Given the description of an element on the screen output the (x, y) to click on. 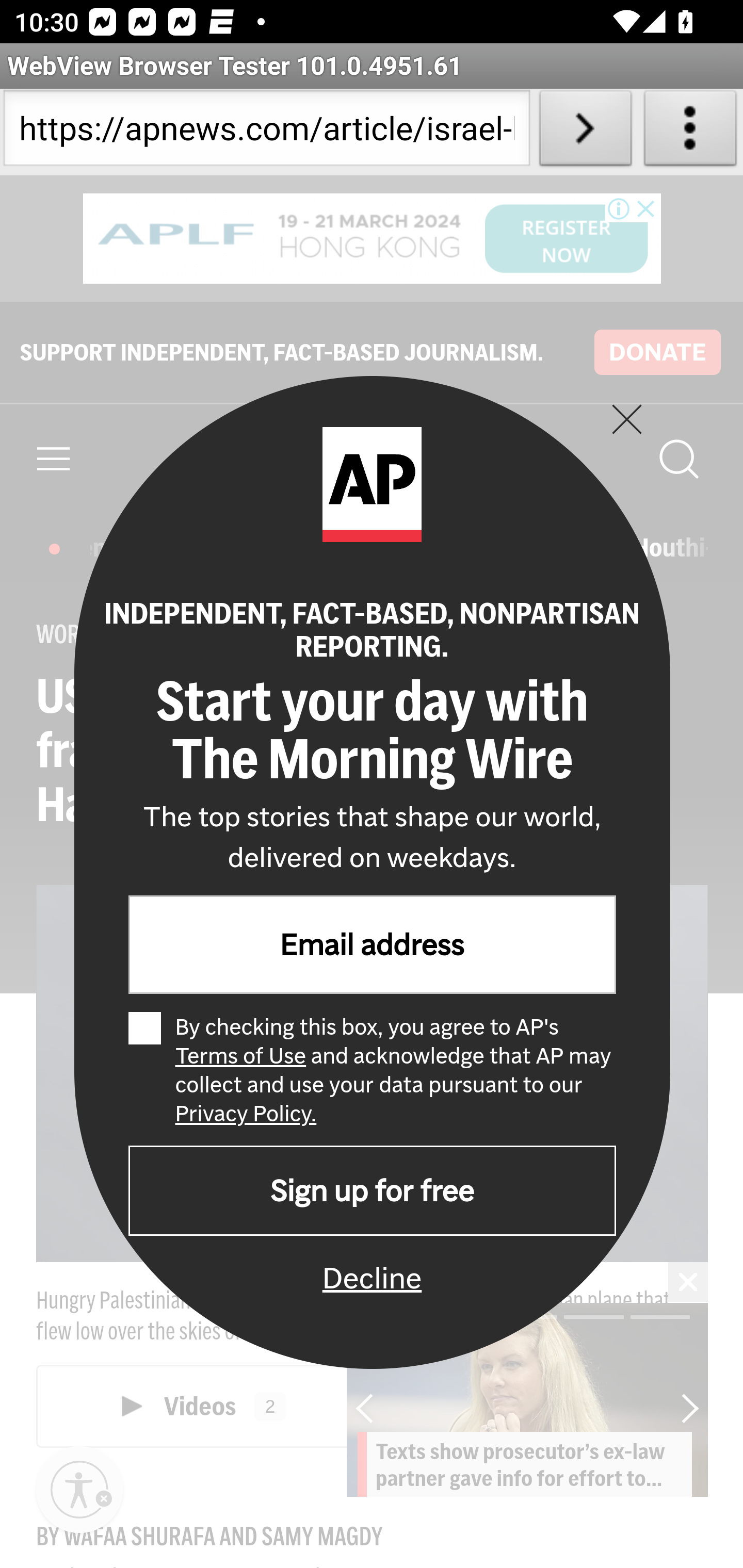
Load URL (585, 132)
About WebView (690, 132)
close email sign up dialog (626, 418)
Terms of Use (239, 1054)
Privacy Policy. (245, 1112)
Sign up for free (371, 1190)
Decline; close the dialog (371, 1276)
